Given the description of an element on the screen output the (x, y) to click on. 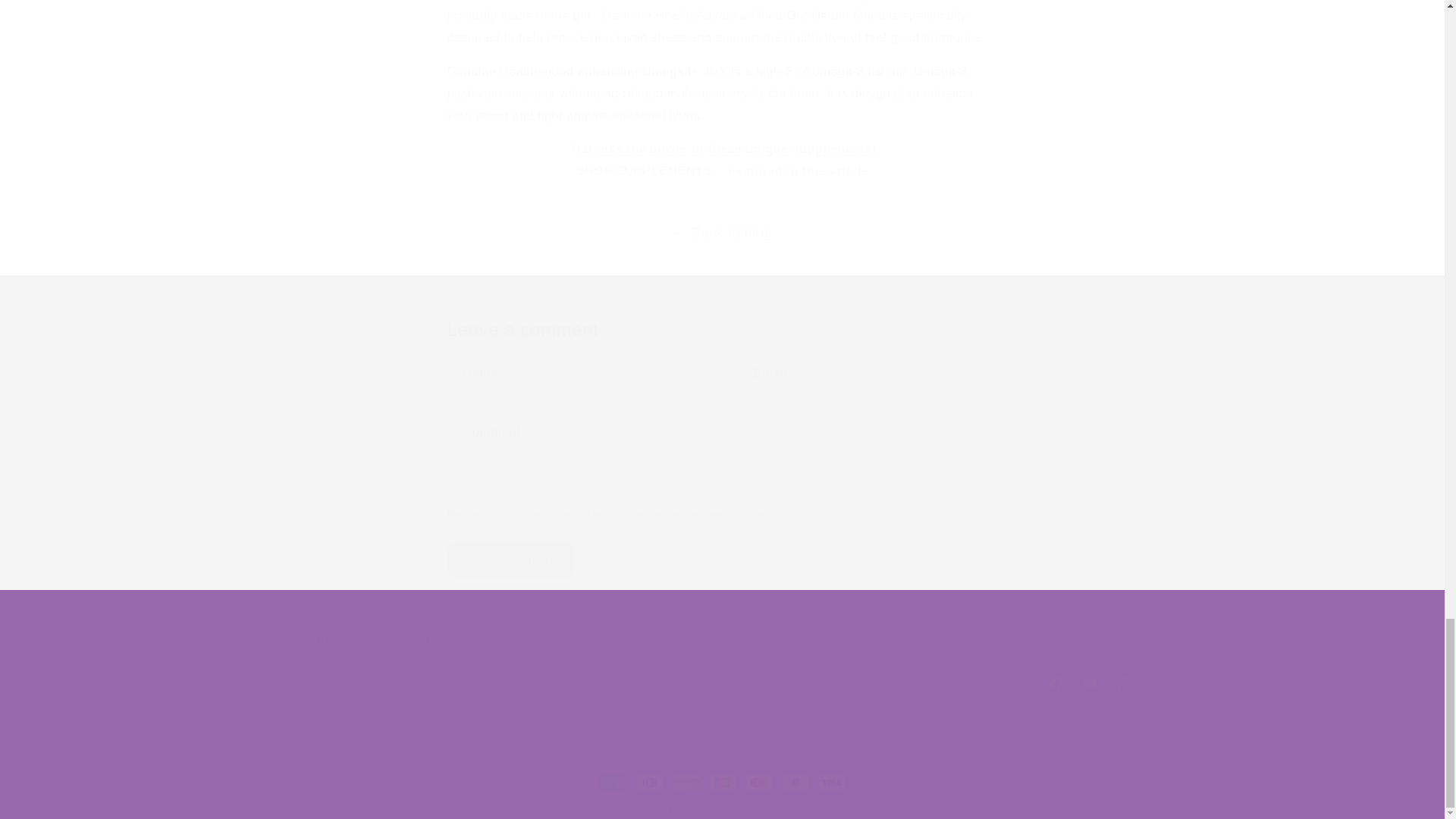
Post comment (510, 560)
